Given the description of an element on the screen output the (x, y) to click on. 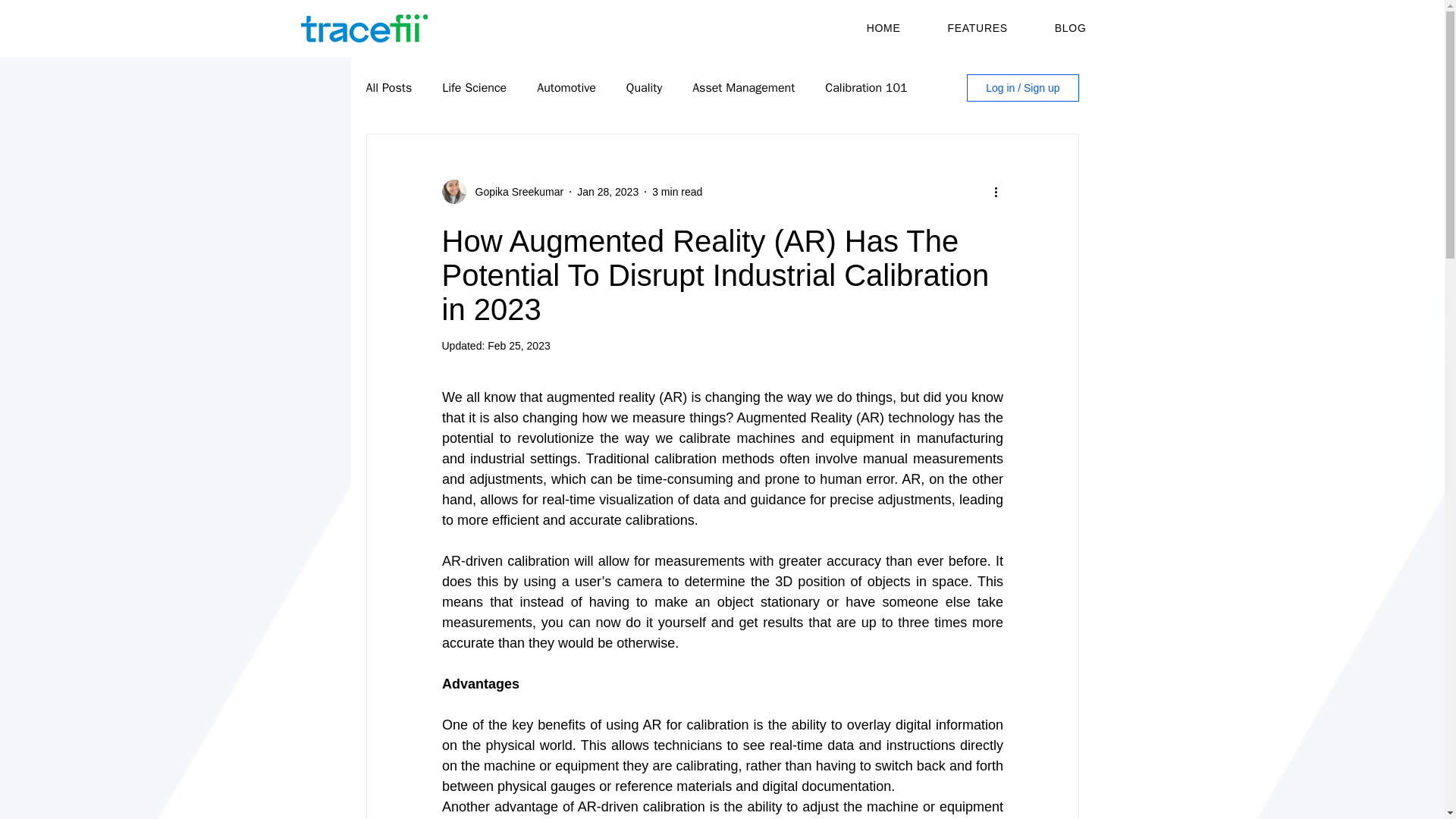
3 min read (676, 191)
FEATURES (977, 27)
Automotive (566, 88)
Life Science (474, 88)
HOME (883, 27)
Quality (644, 88)
Asset Management (743, 88)
Calibration 101 (866, 88)
Jan 28, 2023 (607, 191)
BLOG (1070, 27)
All Posts (388, 88)
Gopika Sreekumar (514, 191)
Feb 25, 2023 (518, 345)
